Given the description of an element on the screen output the (x, y) to click on. 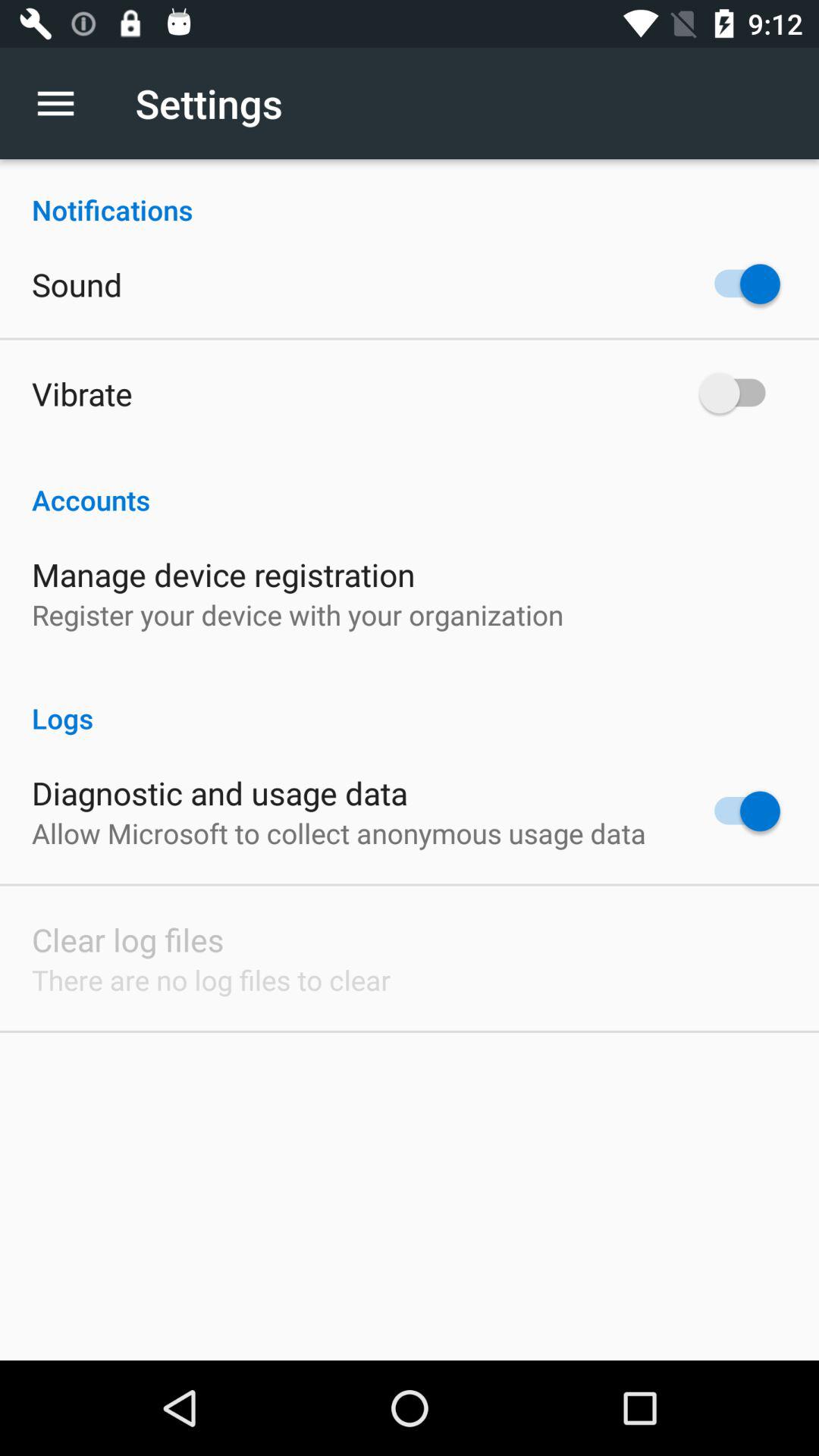
turn off the item below the notifications icon (76, 283)
